Given the description of an element on the screen output the (x, y) to click on. 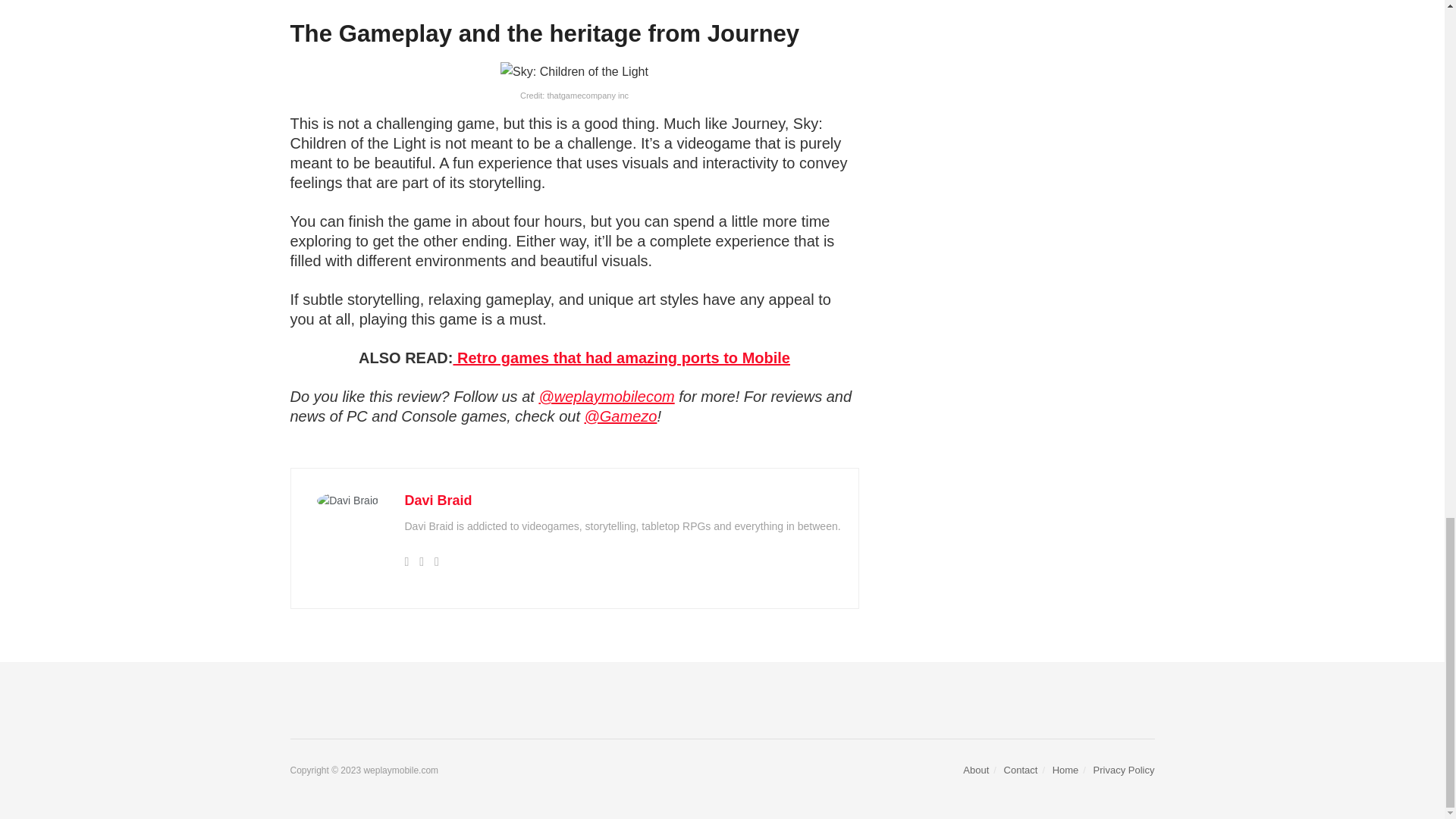
About (975, 769)
Contact (1021, 769)
Privacy Policy (1123, 769)
Home (1065, 769)
Davi Braid (437, 500)
Retro games that had amazing ports to Mobile (621, 357)
